Given the description of an element on the screen output the (x, y) to click on. 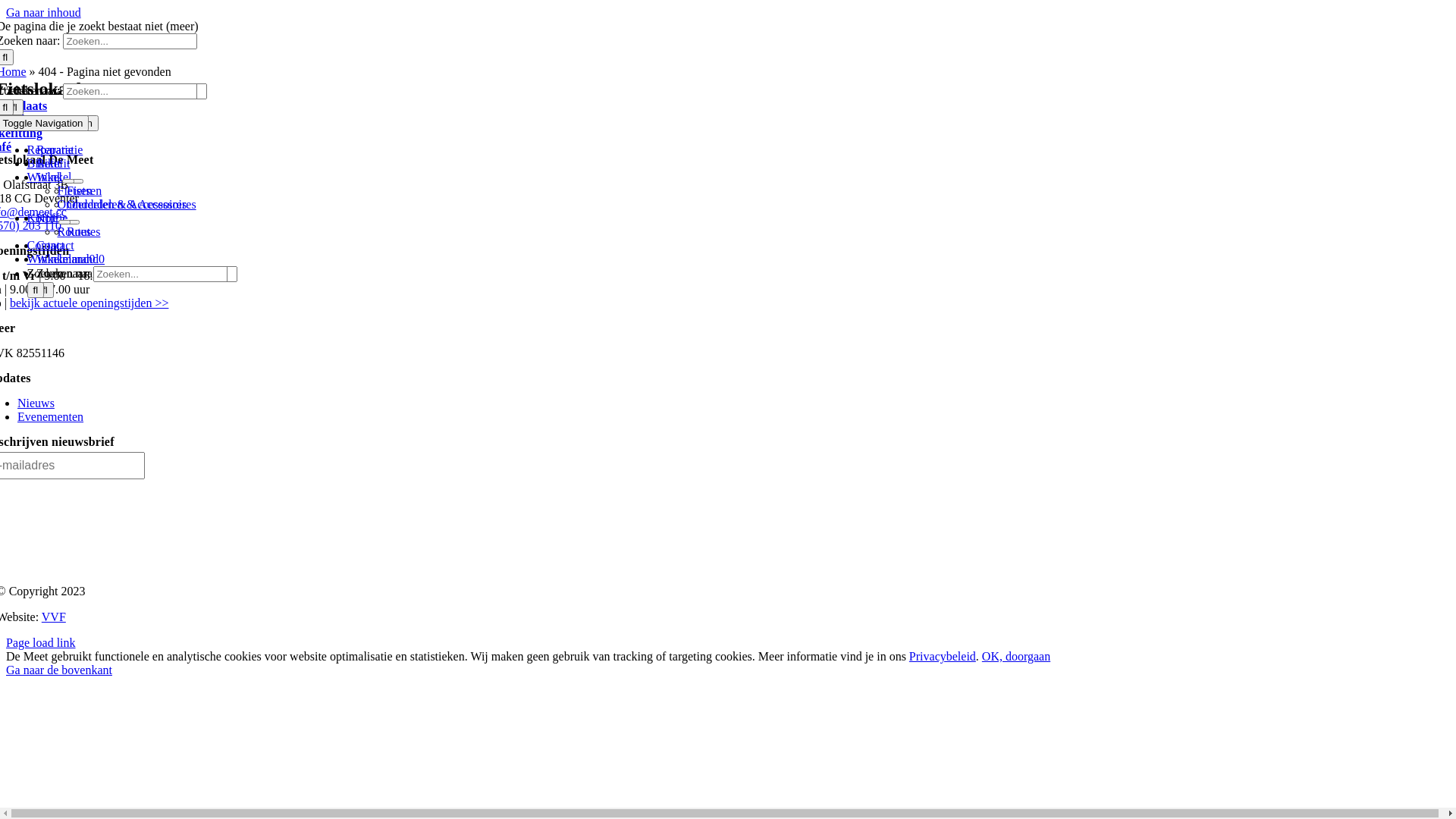
bekijk actuele openingstijden >> Element type: text (89, 302)
Winkelmand0 Element type: text (70, 258)
Routes Element type: text (83, 231)
OK, doorgaan Element type: text (1016, 655)
Onderdelen & Accessoires Element type: text (122, 203)
Winkelmand0 Element type: text (61, 258)
Evenementen Element type: text (50, 416)
Contact Element type: text (46, 244)
Winkel Element type: text (44, 176)
Ga naar de bovenkant Element type: text (59, 669)
Bikefit Element type: text (43, 162)
Onderdelen & Accessoires Element type: text (131, 203)
Koffie Element type: text (42, 217)
Privacybeleid Element type: text (942, 655)
Contact Element type: text (55, 244)
Page load link Element type: text (40, 642)
Reparatie Element type: text (50, 149)
Ga naar inhoud Element type: text (43, 12)
Bikefit Element type: text (52, 162)
Winkel Element type: text (53, 176)
Toggle Navigation Element type: text (52, 123)
Koffie Element type: text (51, 217)
Reparatie Element type: text (59, 149)
VVF Element type: text (53, 616)
Nieuws Element type: text (35, 402)
Fietsen Element type: text (83, 190)
Routes Element type: text (74, 231)
Fietsen Element type: text (74, 190)
